Given the description of an element on the screen output the (x, y) to click on. 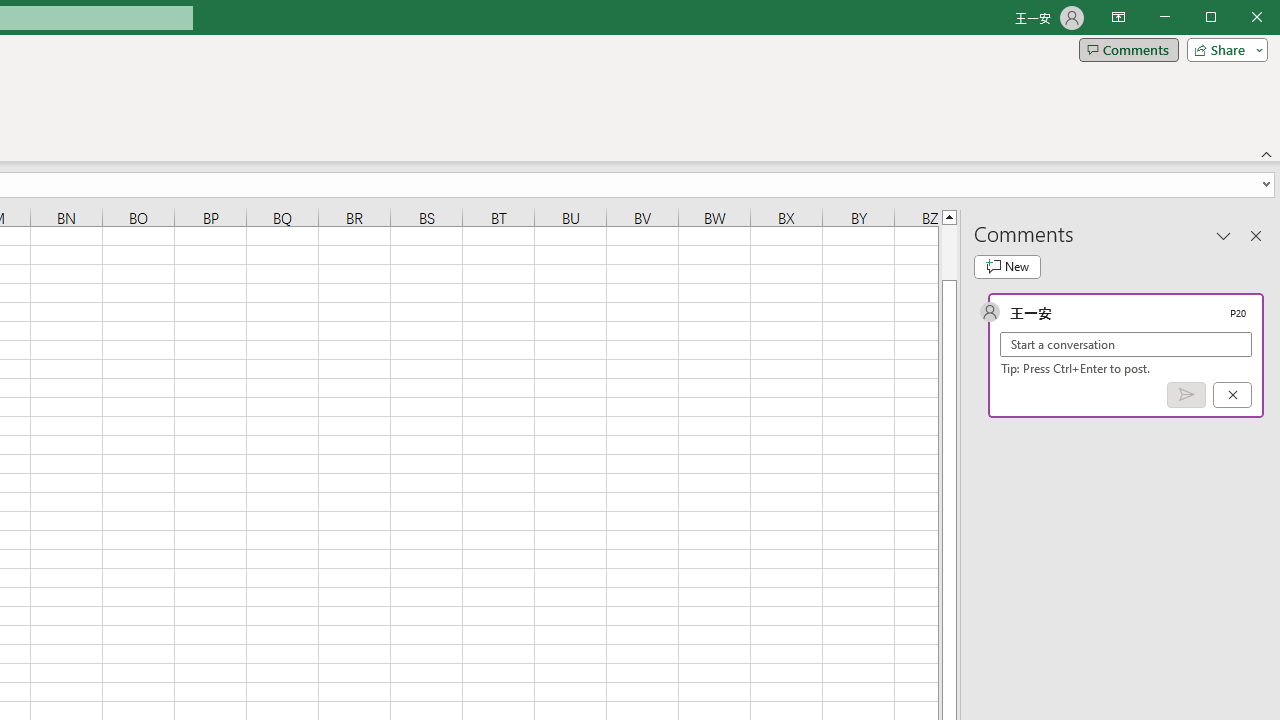
New comment (1007, 266)
Post comment (Ctrl + Enter) (1186, 395)
Start a conversation (1126, 344)
Maximize (1239, 18)
Page up (948, 252)
